Given the description of an element on the screen output the (x, y) to click on. 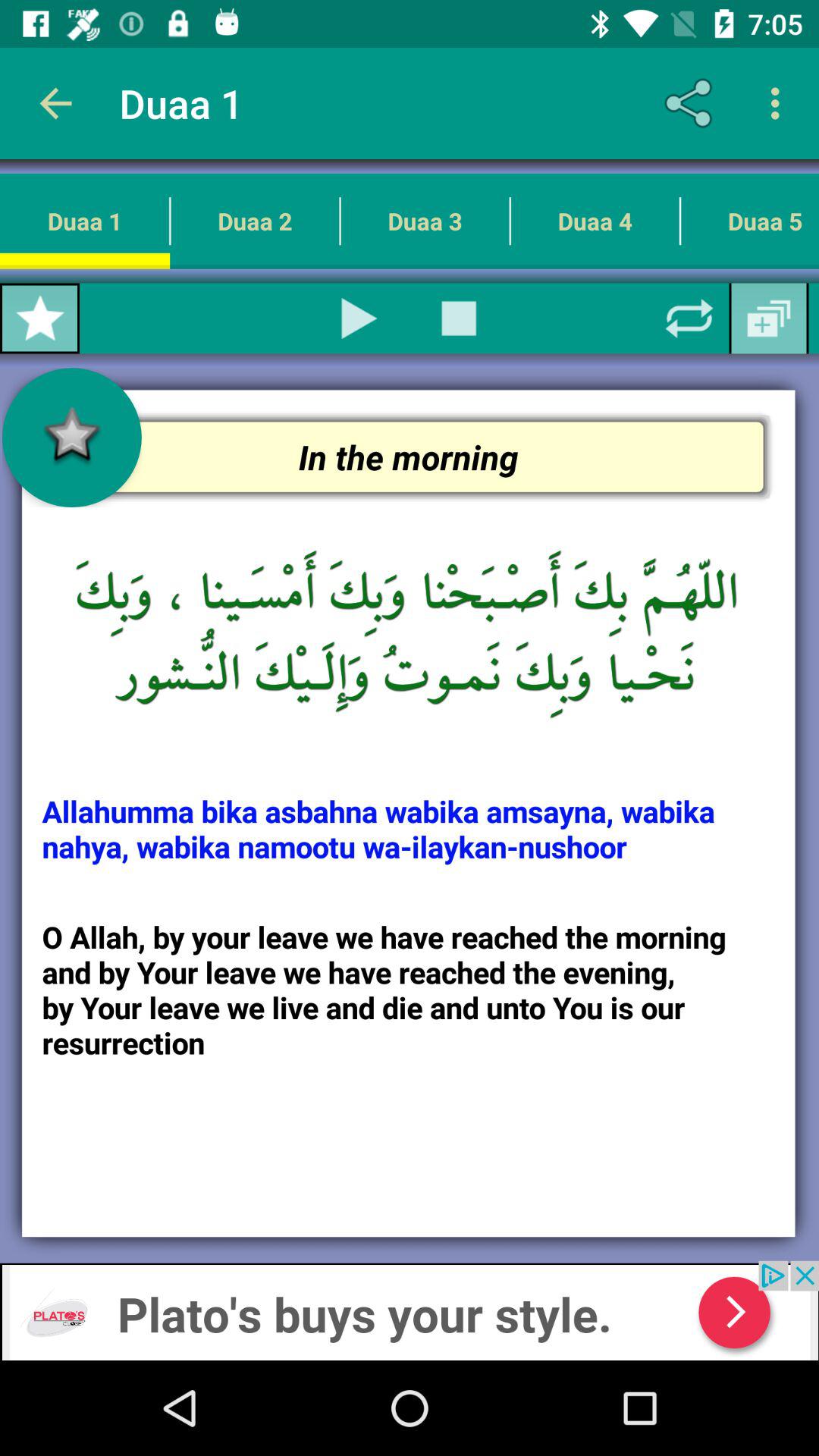
turn on the app next to the duaa 1 item (691, 103)
